Given the description of an element on the screen output the (x, y) to click on. 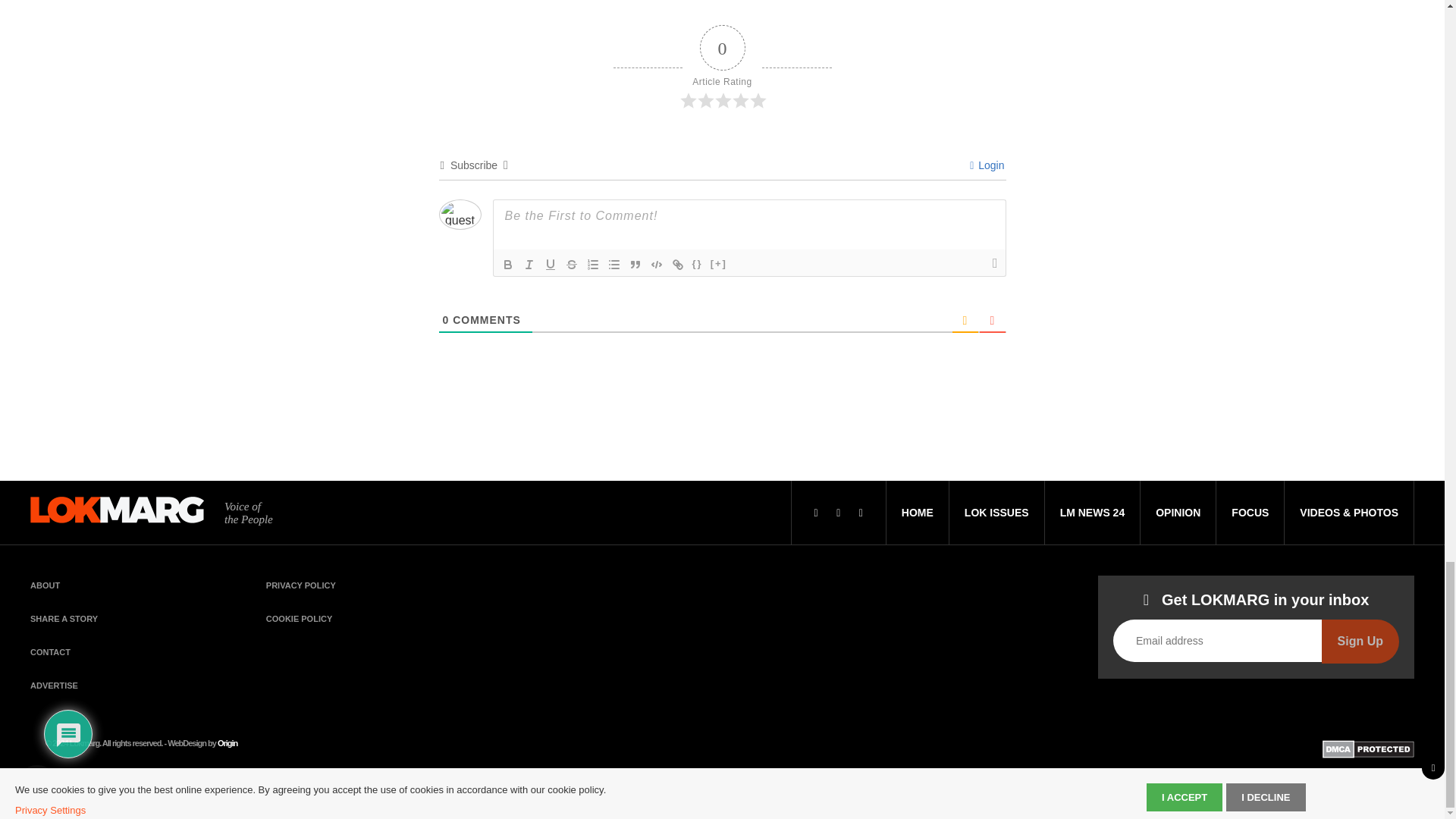
Login (986, 164)
Sign Up (1360, 641)
